Given the description of an element on the screen output the (x, y) to click on. 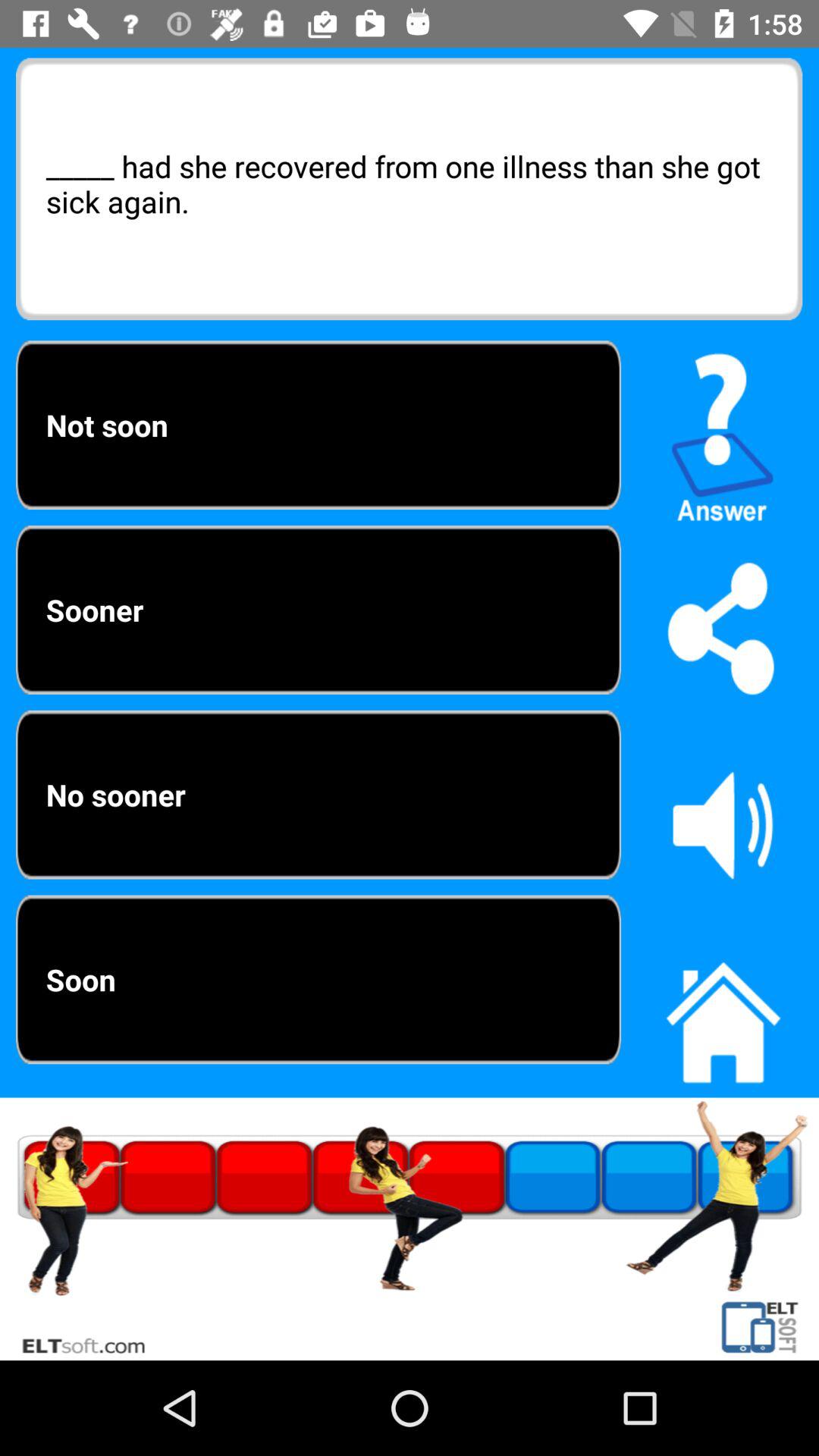
jump until the no sooner (318, 794)
